Given the description of an element on the screen output the (x, y) to click on. 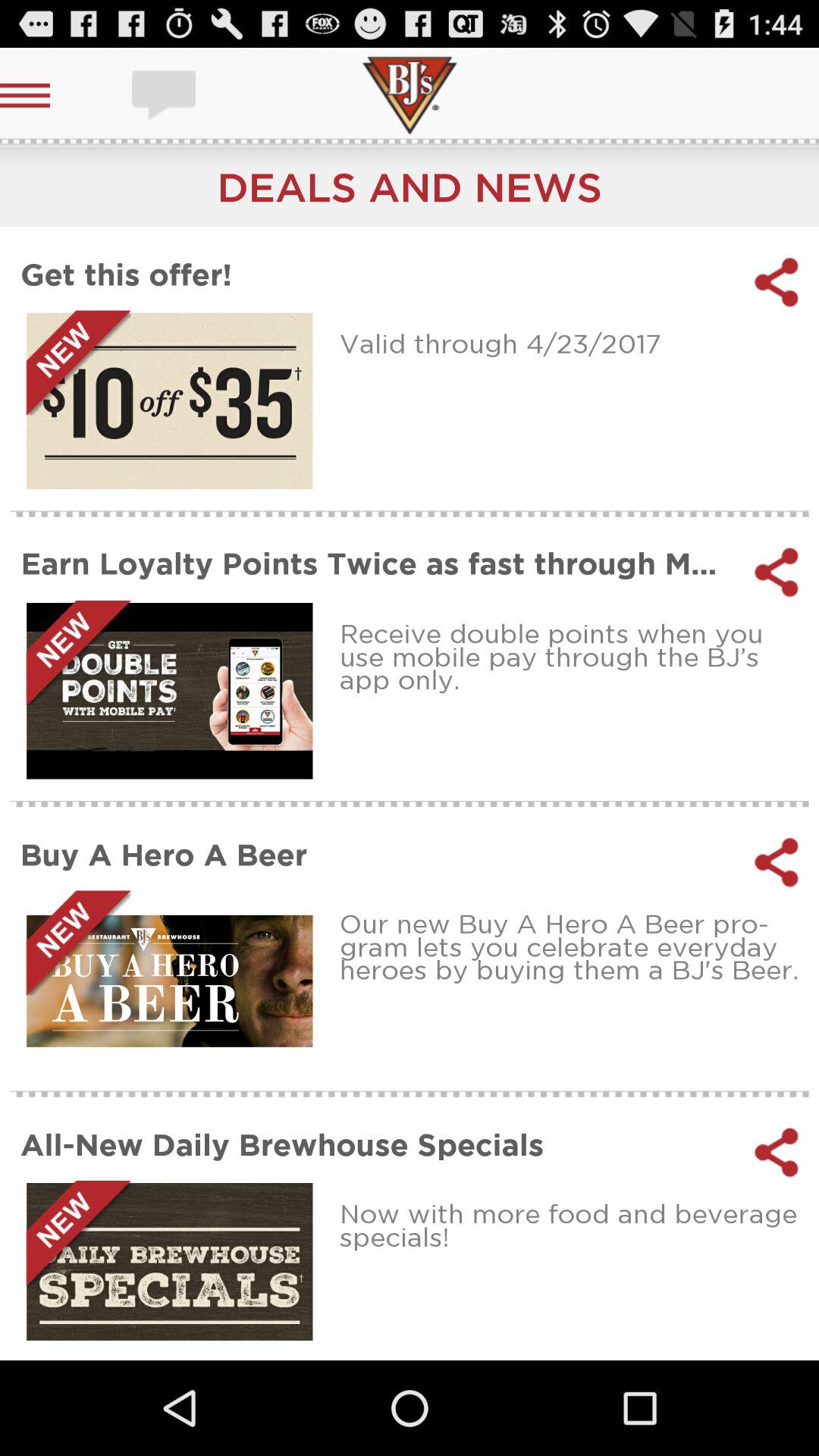
share option (776, 1152)
